Given the description of an element on the screen output the (x, y) to click on. 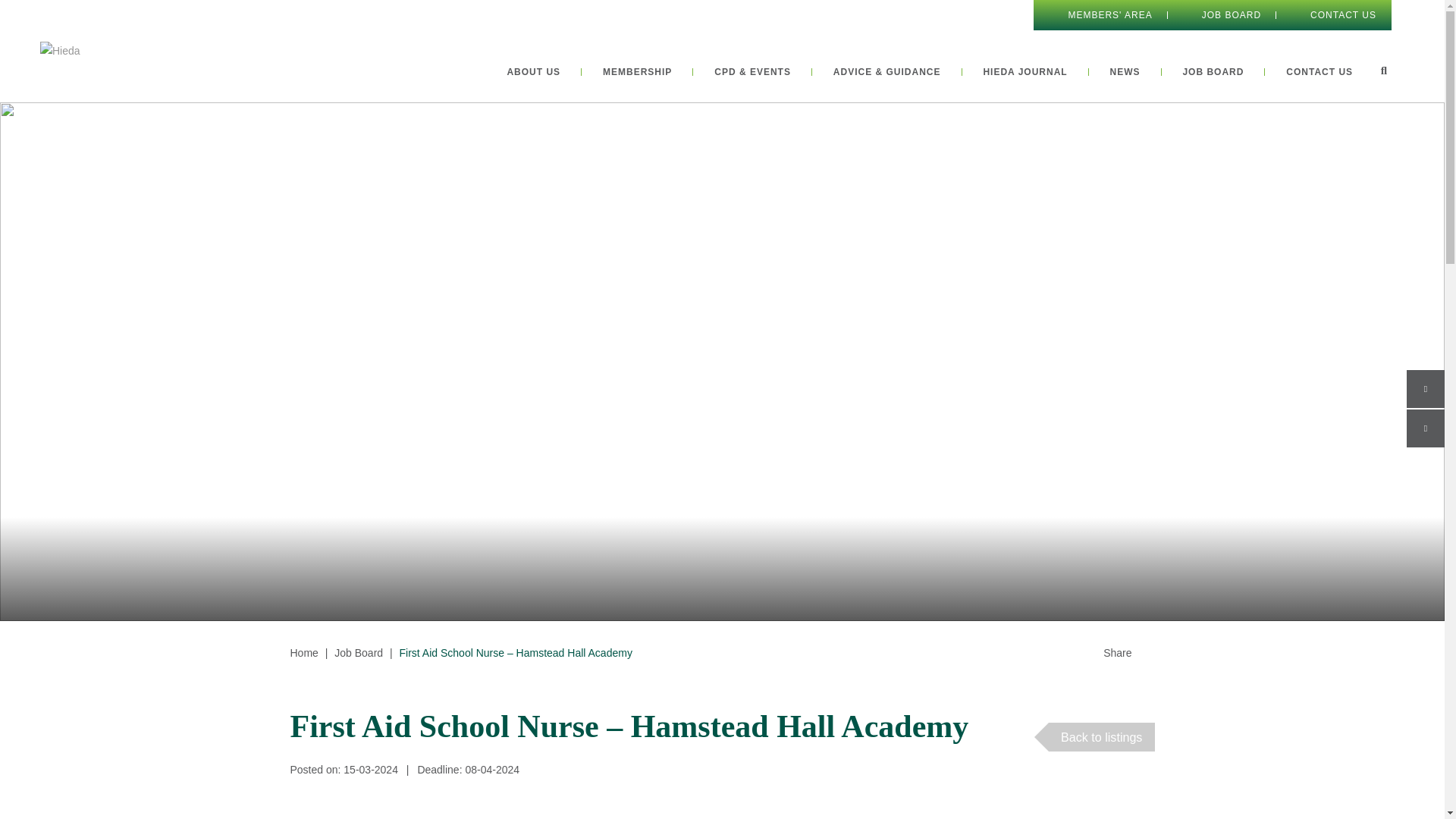
HIEDA JOURNAL (1024, 71)
NEWS (1124, 71)
CONTACT US (1333, 15)
MEMBERS' AREA (1099, 15)
MEMBERSHIP (636, 71)
JOB BOARD (1212, 71)
Go to Hieda. (303, 653)
ABOUT US (533, 71)
JOB BOARD (1221, 15)
CONTACT US (1318, 71)
Go to Job Board. (358, 653)
